Given the description of an element on the screen output the (x, y) to click on. 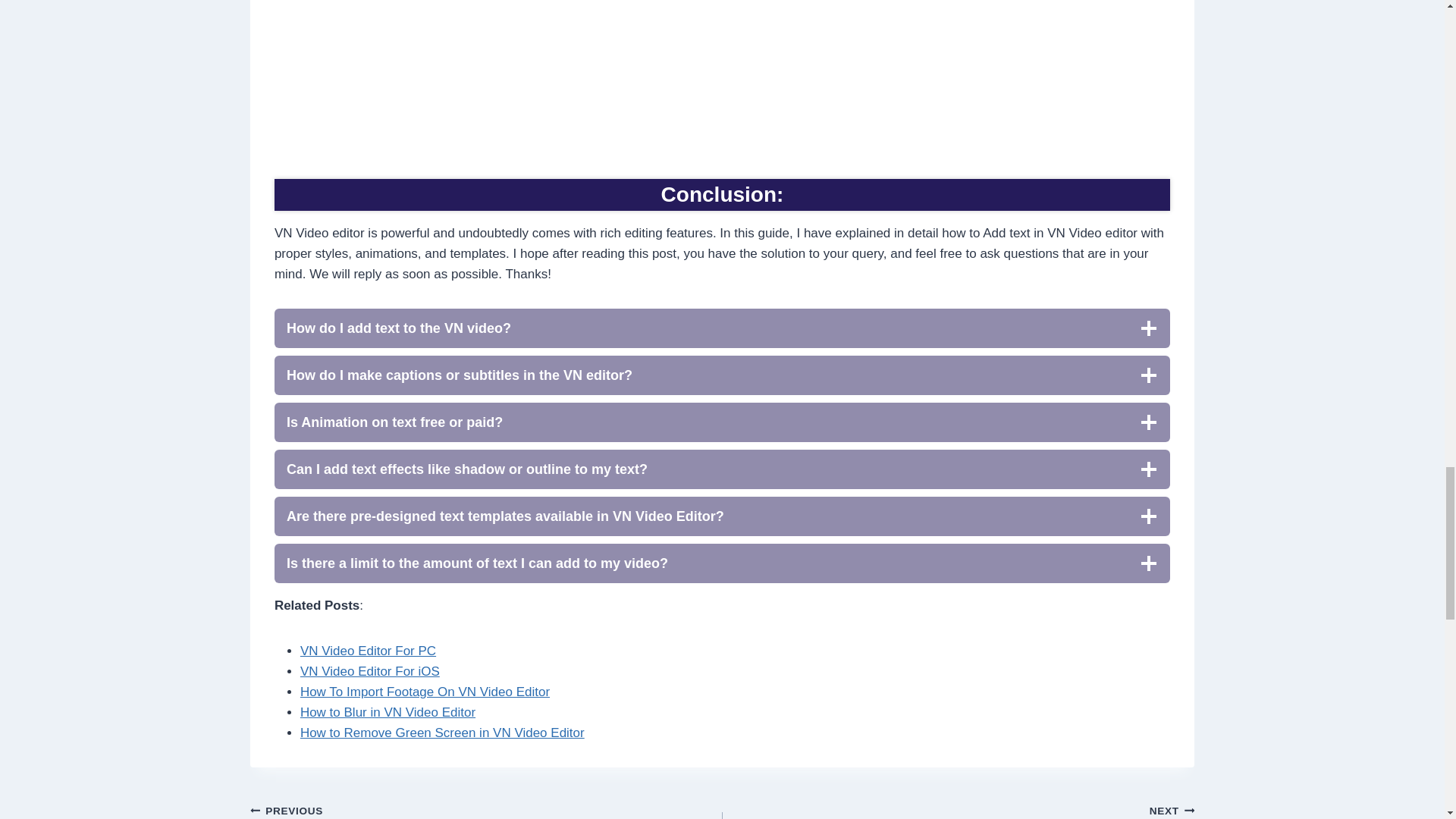
How to Blur in VN Video Editor (387, 712)
How to Remove Green Screen in VN Video Editor (442, 732)
How To Import Footage On VN Video Editor (424, 691)
Can I add text effects like shadow or outline to my text? (722, 468)
VN Video Editor For PC (367, 650)
VN Video Editor For iOS (369, 671)
How do I make captions or subtitles in the VN editor? (722, 374)
